Given the description of an element on the screen output the (x, y) to click on. 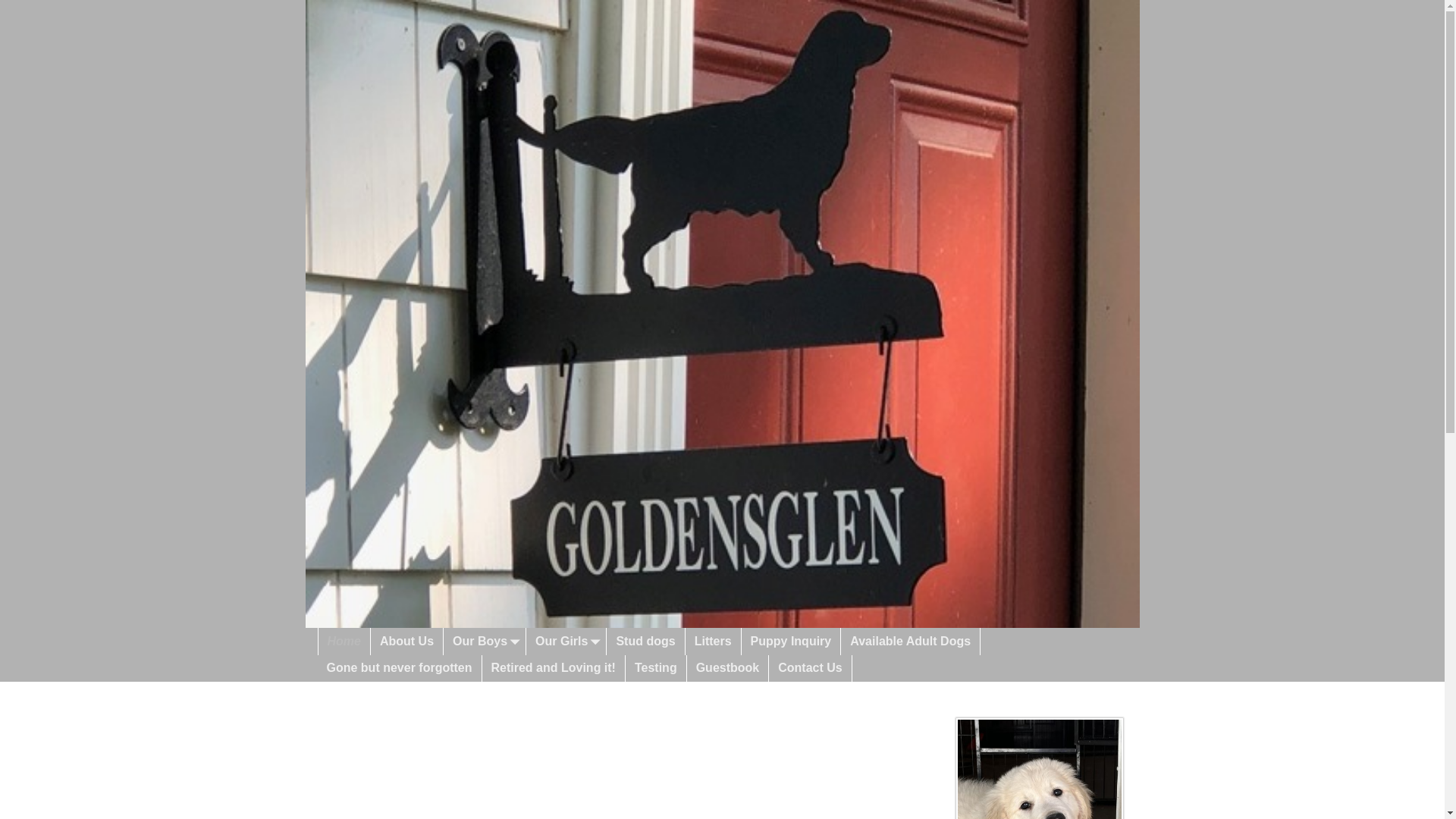
About Us (407, 641)
Stud dogs (645, 641)
Contact Us (809, 668)
Home (344, 641)
Our Boys (484, 641)
Gone but never forgotten (399, 668)
Testing (656, 668)
Litters (713, 641)
Home (344, 641)
Puppy Inquiry (791, 641)
Guestbook (728, 668)
Retired and Loving it! (553, 668)
Available Adult Dogs (910, 641)
Our Girls (566, 641)
